Given the description of an element on the screen output the (x, y) to click on. 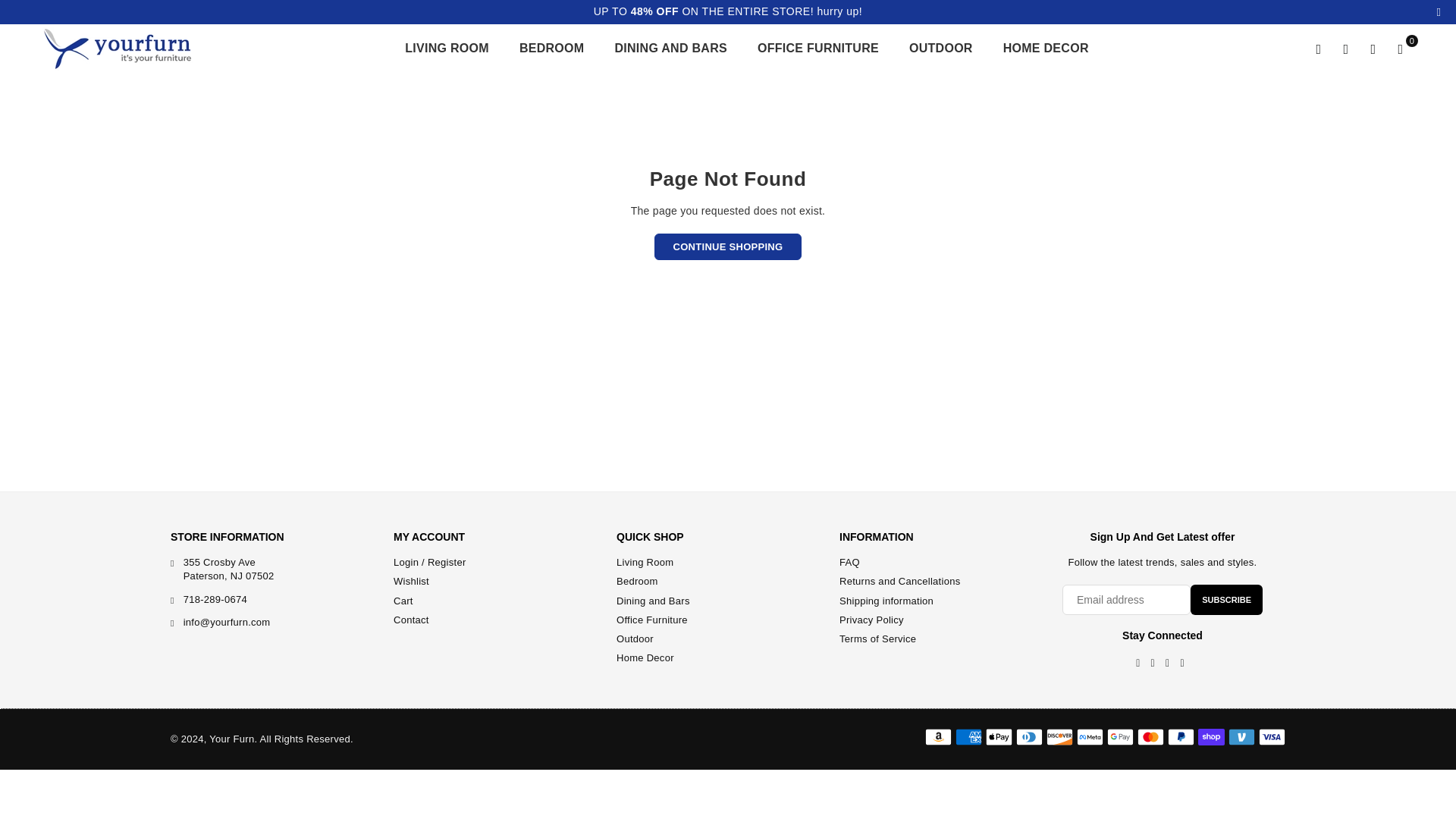
Venmo (1241, 737)
Meta Pay (1090, 737)
Your Furn on Pinterest (1152, 663)
American Express (968, 737)
Amazon (938, 737)
Shop Pay (1211, 737)
BEDROOM (551, 48)
PayPal (1180, 737)
Diners Club (1029, 737)
Wishlist (1373, 48)
